Given the description of an element on the screen output the (x, y) to click on. 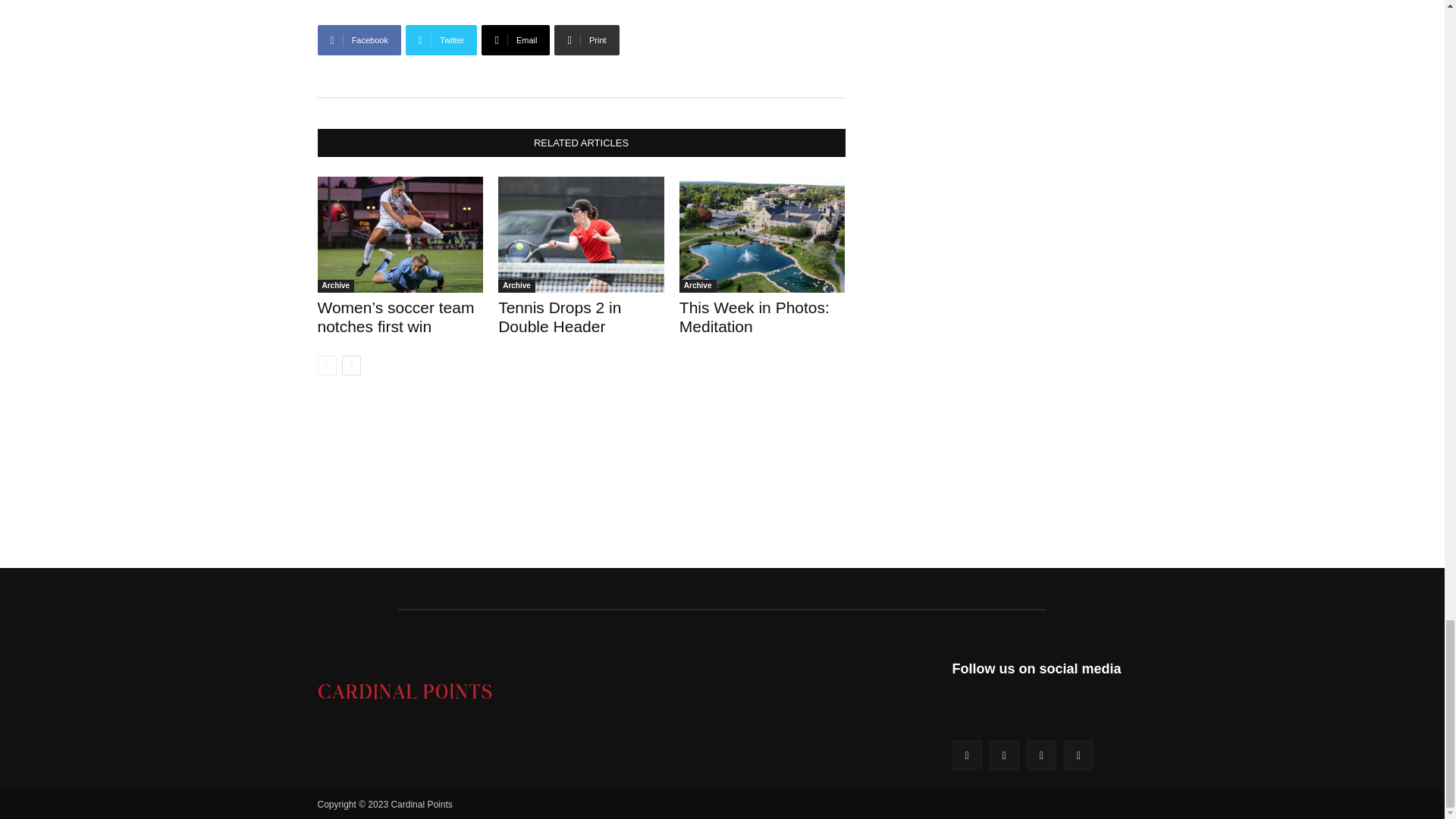
Twitter (441, 40)
Facebook (358, 40)
